Given the description of an element on the screen output the (x, y) to click on. 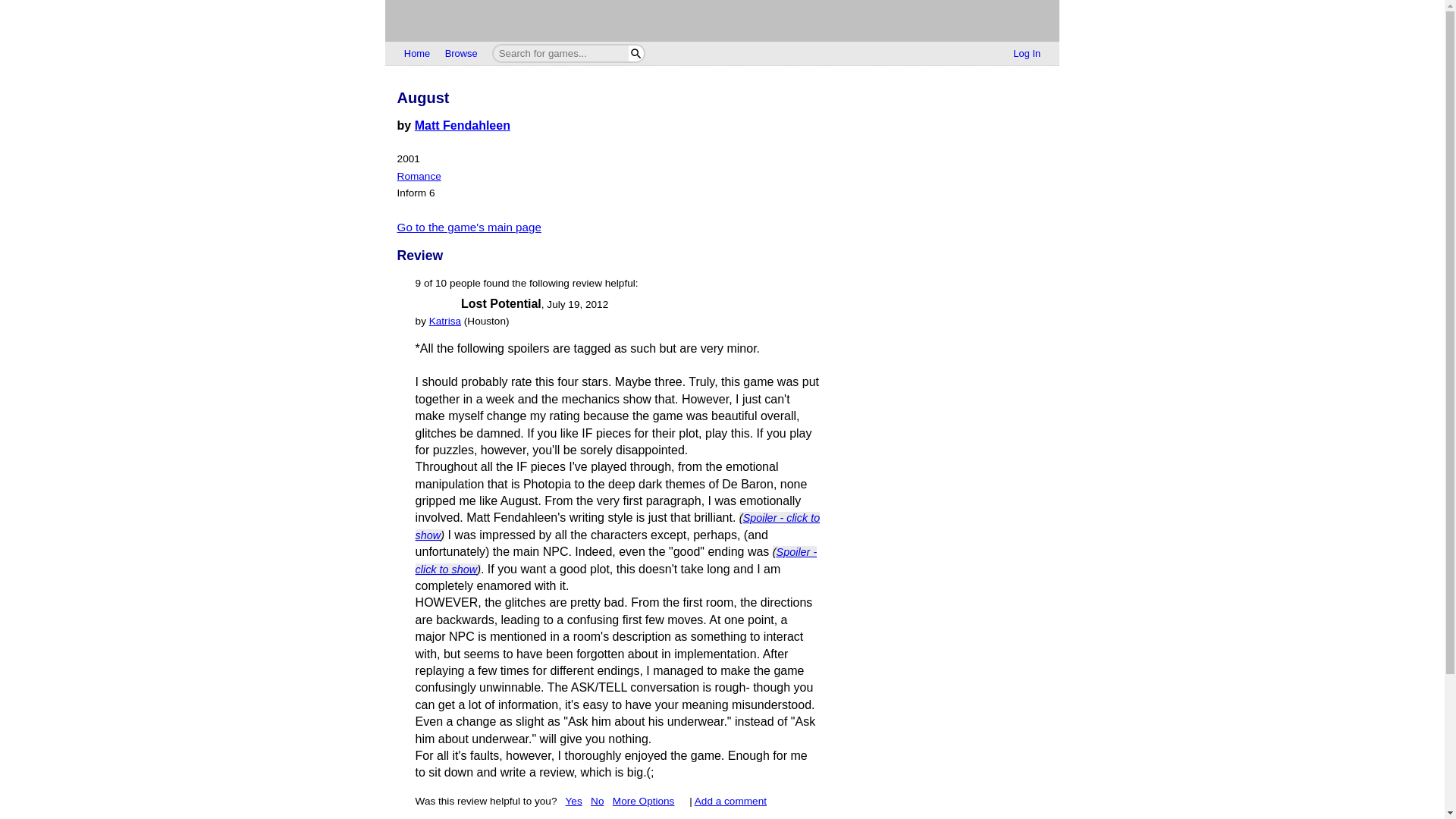
Matt Fendahleen (462, 124)
Browse (461, 53)
Romance (419, 175)
Katrisa (445, 320)
Home (417, 53)
Spoiler - click to show (617, 525)
Add a comment (730, 800)
Go to the game's main page (469, 226)
5 Stars (436, 304)
More Options (649, 800)
